Given the description of an element on the screen output the (x, y) to click on. 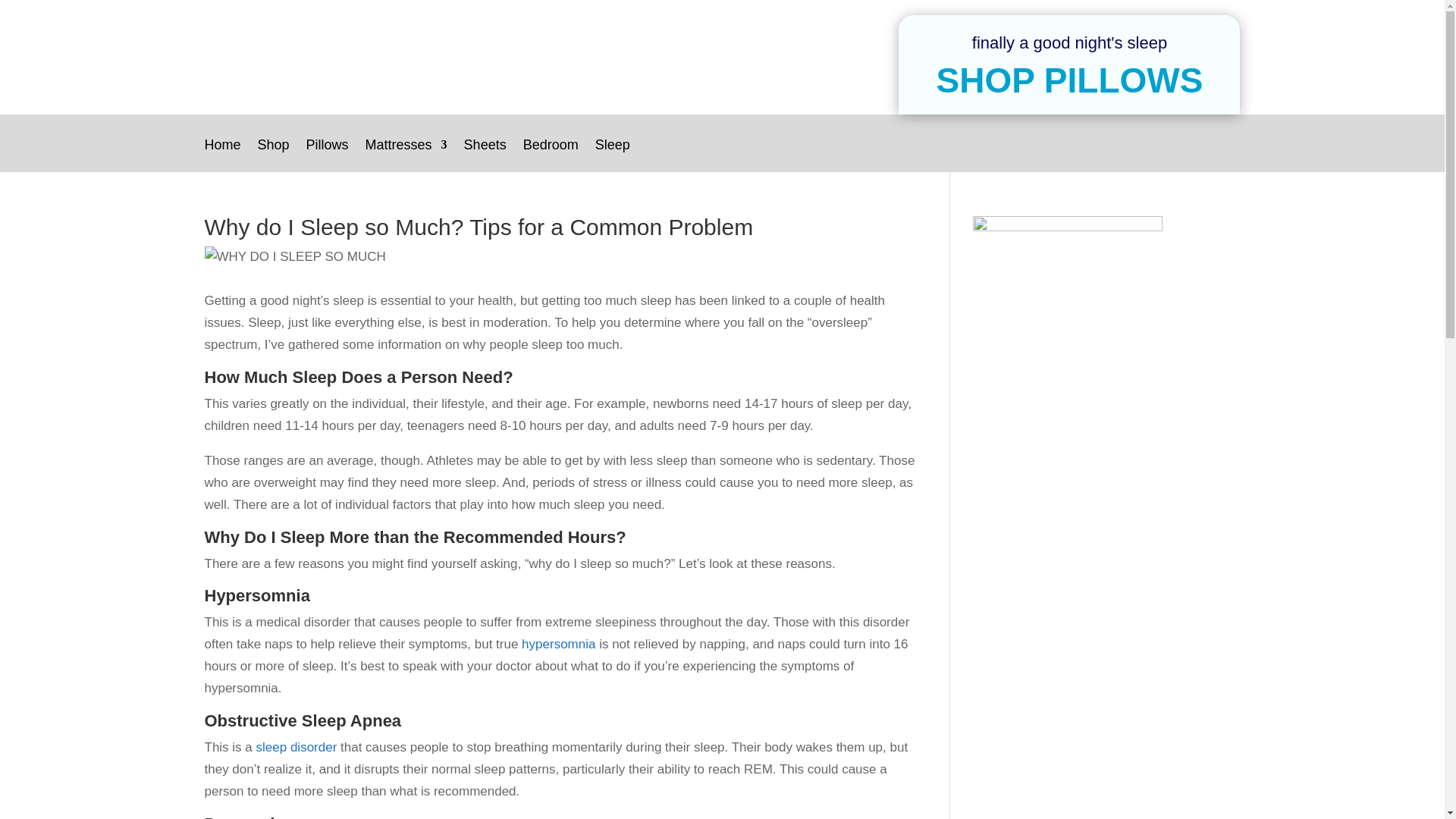
Bedroom (550, 155)
Mattresses (405, 155)
Home (223, 155)
Sleep (612, 155)
sleep disorder (296, 747)
Sheets (485, 155)
Pillows (327, 155)
hypersomnia (558, 644)
Shop (273, 155)
